Given the description of an element on the screen output the (x, y) to click on. 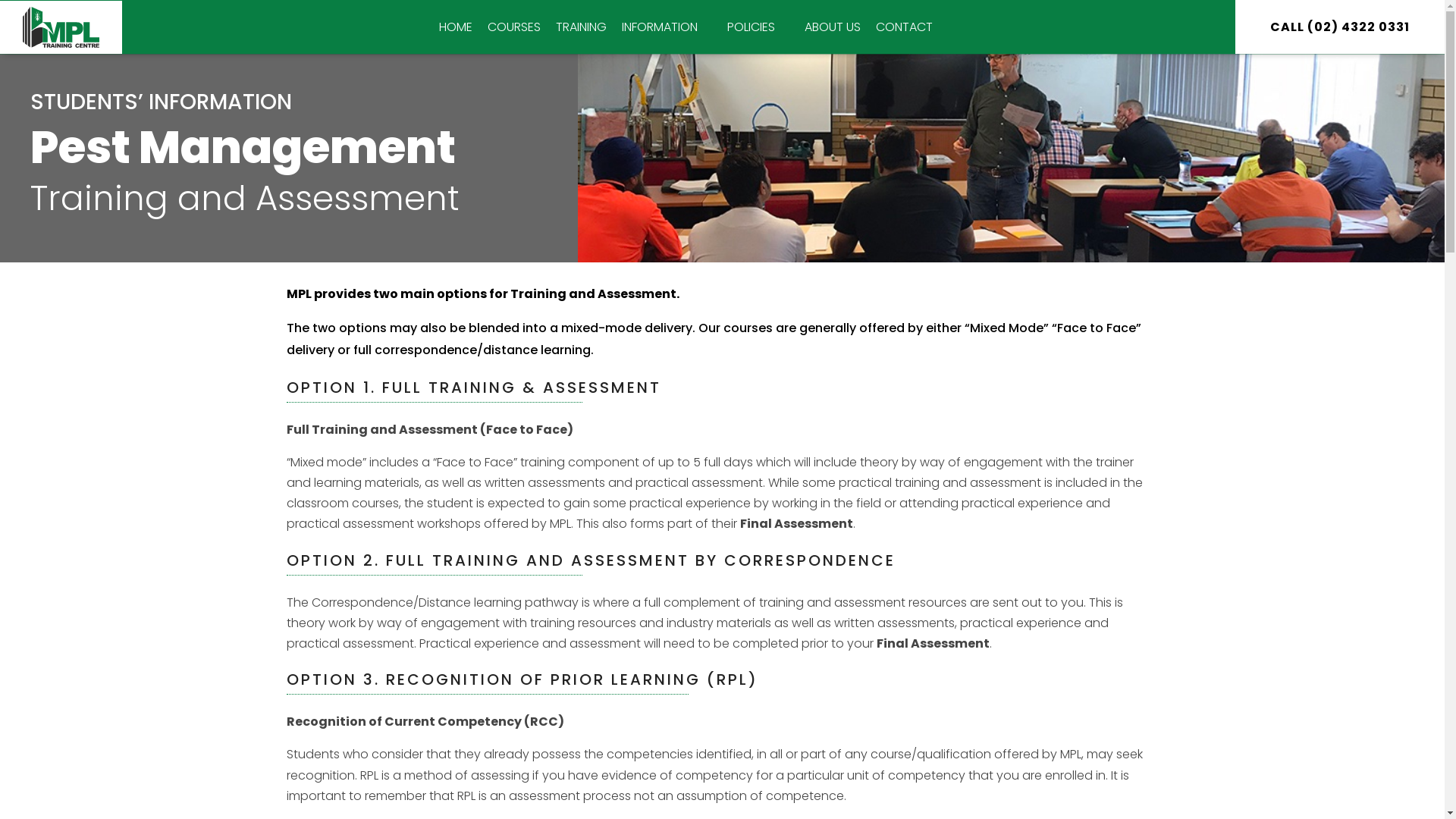
POLICIES Element type: text (758, 26)
COURSES Element type: text (514, 26)
CONTACT Element type: text (904, 26)
ABOUT US Element type: text (832, 26)
INFORMATION Element type: text (666, 26)
CALL (02) 4322 0331 Element type: text (1339, 26)
TRAINING Element type: text (581, 26)
HOME Element type: text (455, 26)
MORE INFO Element type: text (787, 28)
